Given the description of an element on the screen output the (x, y) to click on. 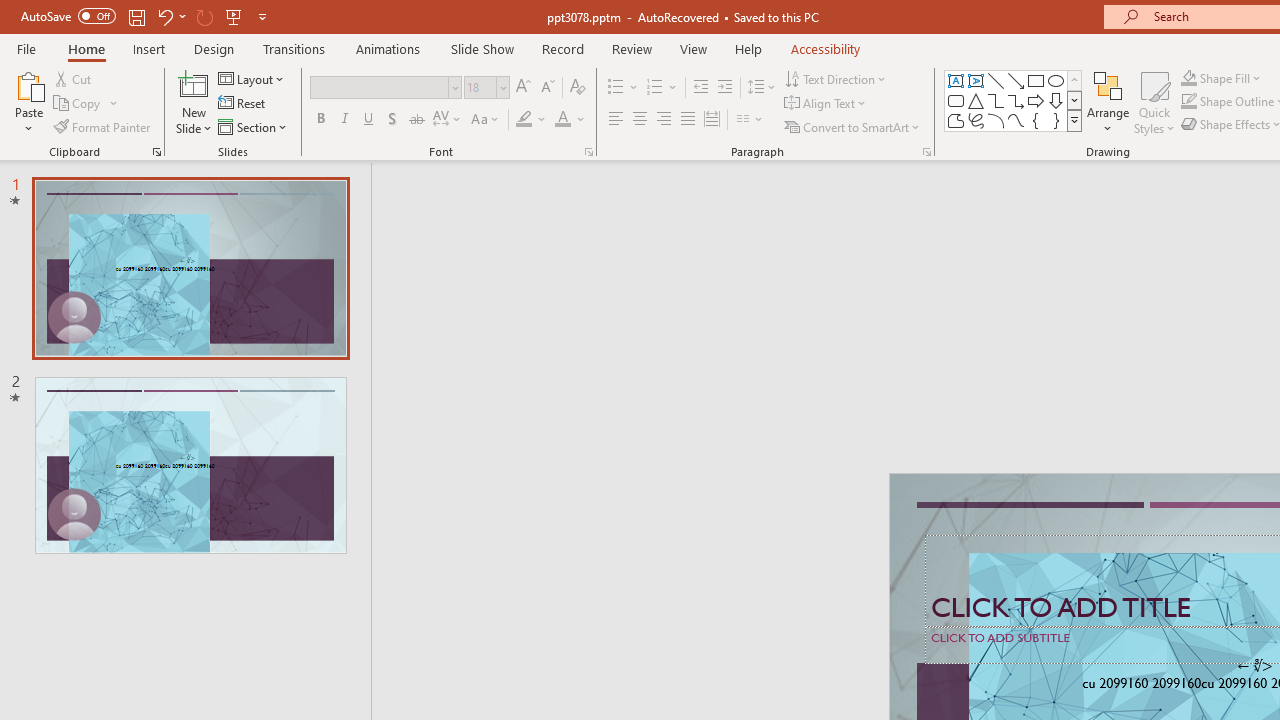
TextBox 7 (1254, 666)
Font... (588, 151)
